Given the description of an element on the screen output the (x, y) to click on. 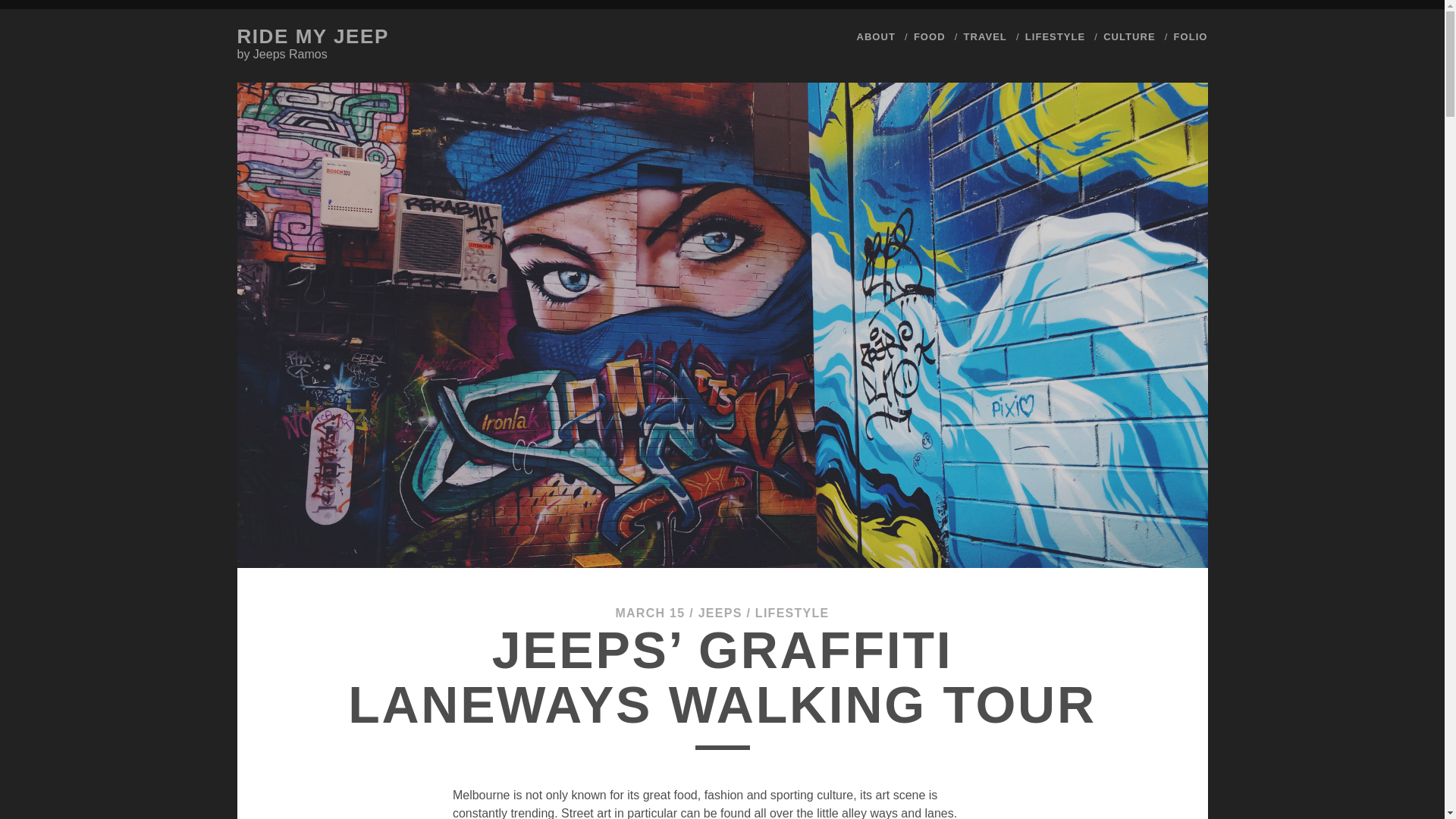
Posts by jeeps (720, 612)
CULTURE (1128, 36)
FOOD (929, 36)
LIFESTYLE (792, 612)
ABOUT (876, 36)
TRAVEL (985, 36)
FOLIO (1190, 36)
JEEPS (720, 612)
RIDE MY JEEP (311, 36)
LIFESTYLE (1054, 36)
